Given the description of an element on the screen output the (x, y) to click on. 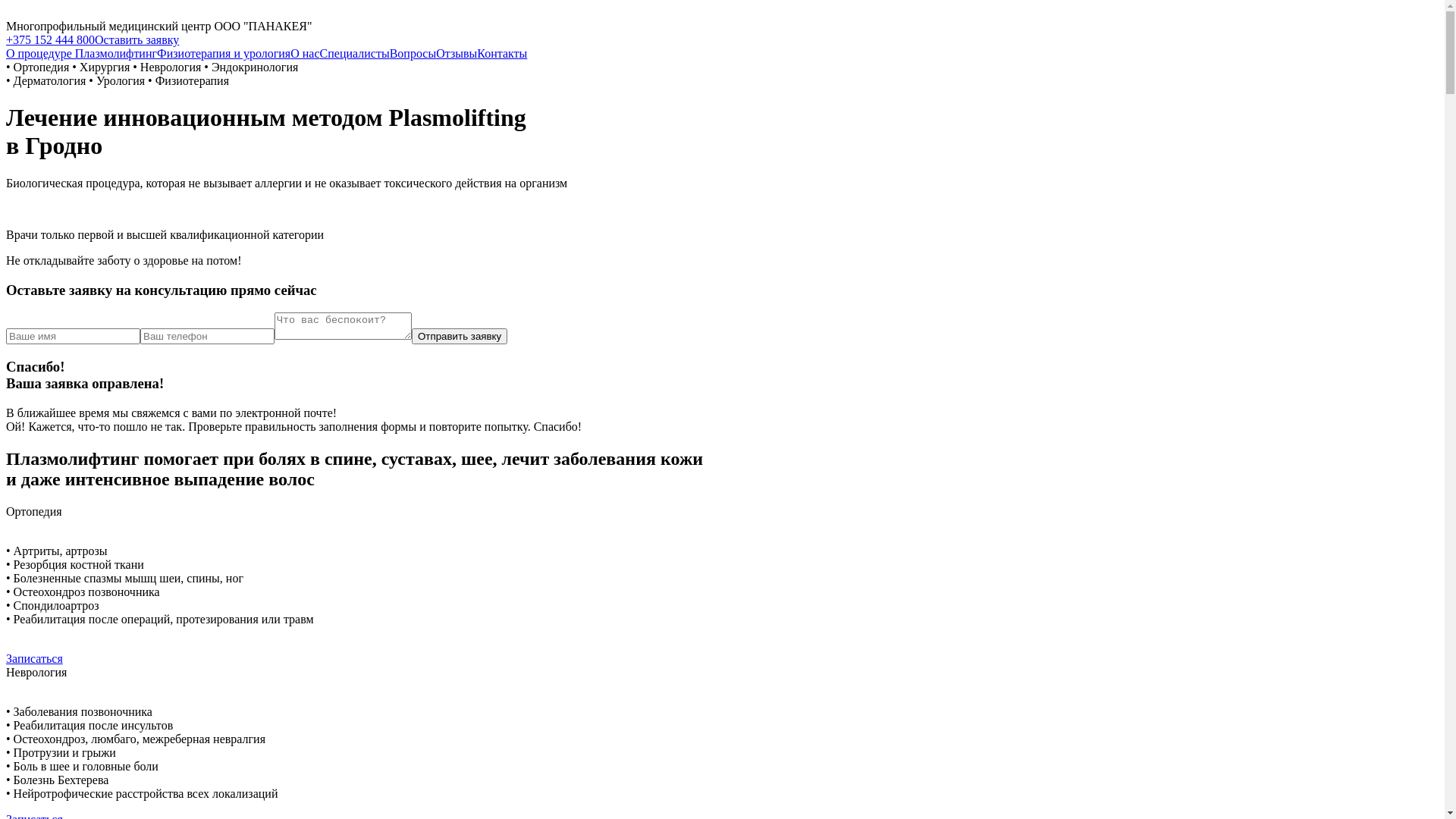
+375 152 444 800 Element type: text (50, 39)
